Given the description of an element on the screen output the (x, y) to click on. 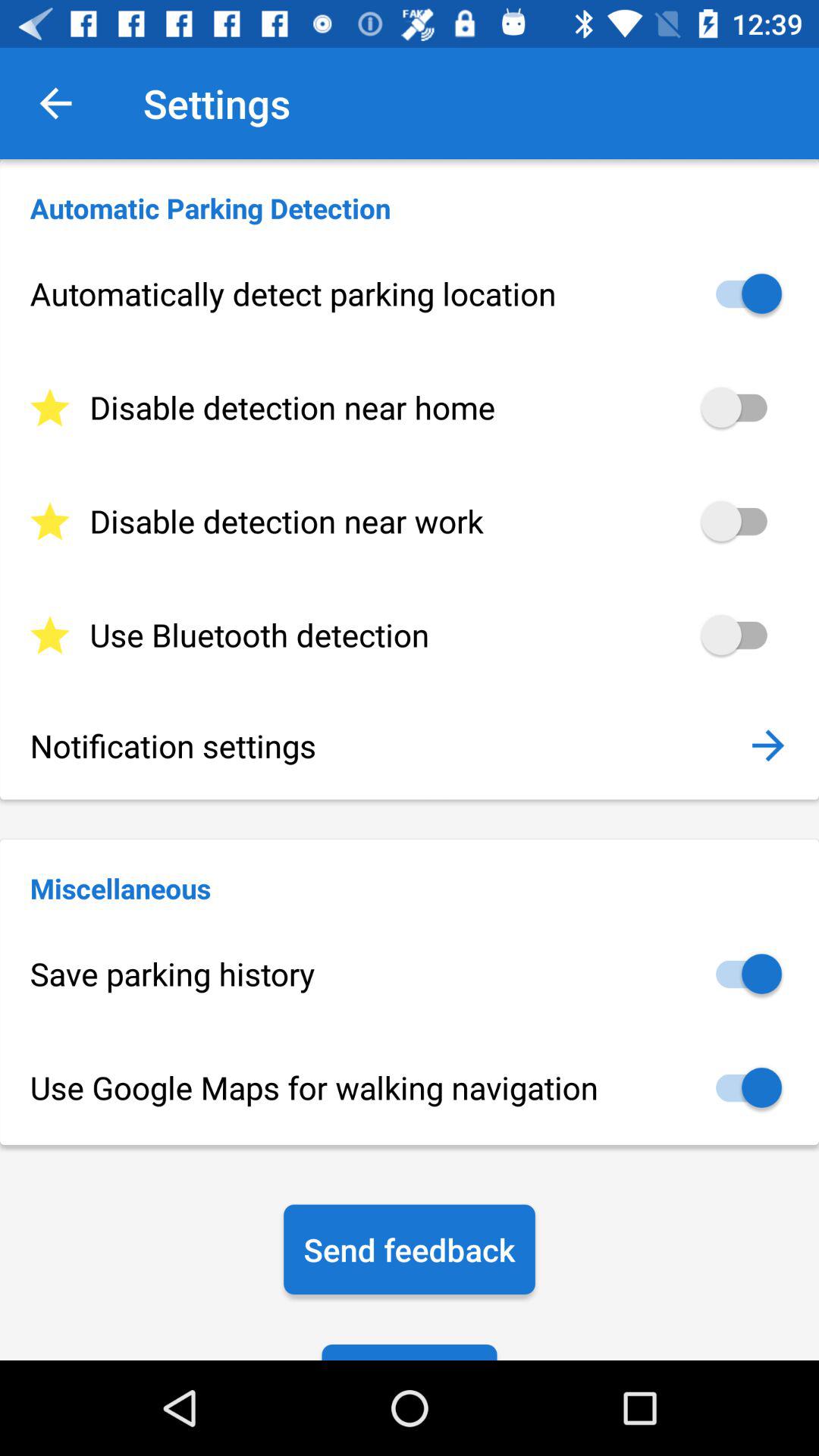
launch use google maps icon (409, 1087)
